Given the description of an element on the screen output the (x, y) to click on. 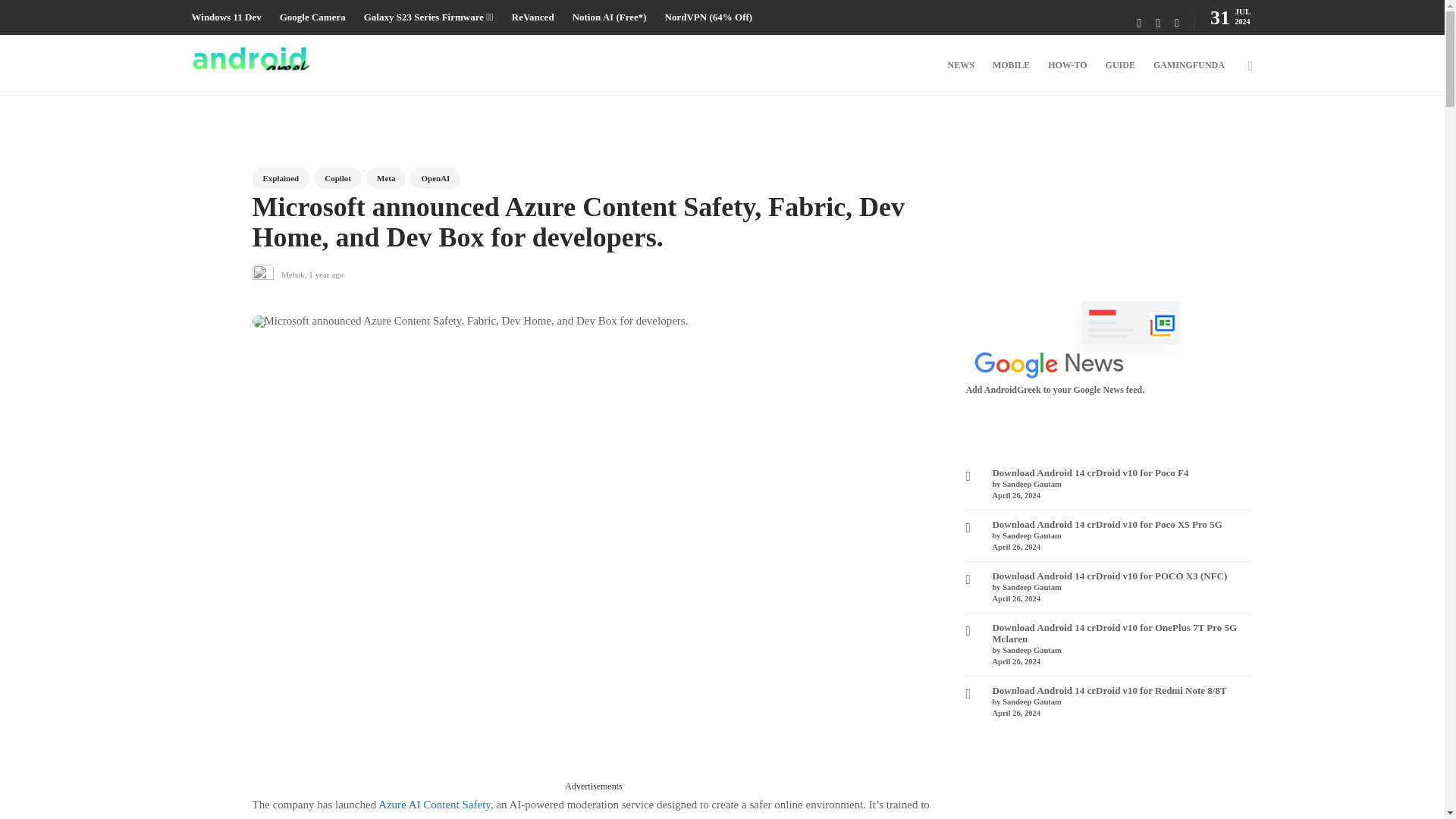
Meta (386, 178)
HOW-TO (1067, 65)
OpenAI (435, 178)
ReVanced (533, 17)
GAMINGFUNDA (1188, 65)
Windows 11 Dev (225, 17)
Explained (279, 178)
NEWS (960, 65)
Mehak (292, 274)
GUIDE (1120, 65)
Google Camera (312, 17)
1 year ago (325, 274)
Add AndroidGreek to your Google News feed. (1078, 339)
Azure AI Content Safety (434, 804)
